Given the description of an element on the screen output the (x, y) to click on. 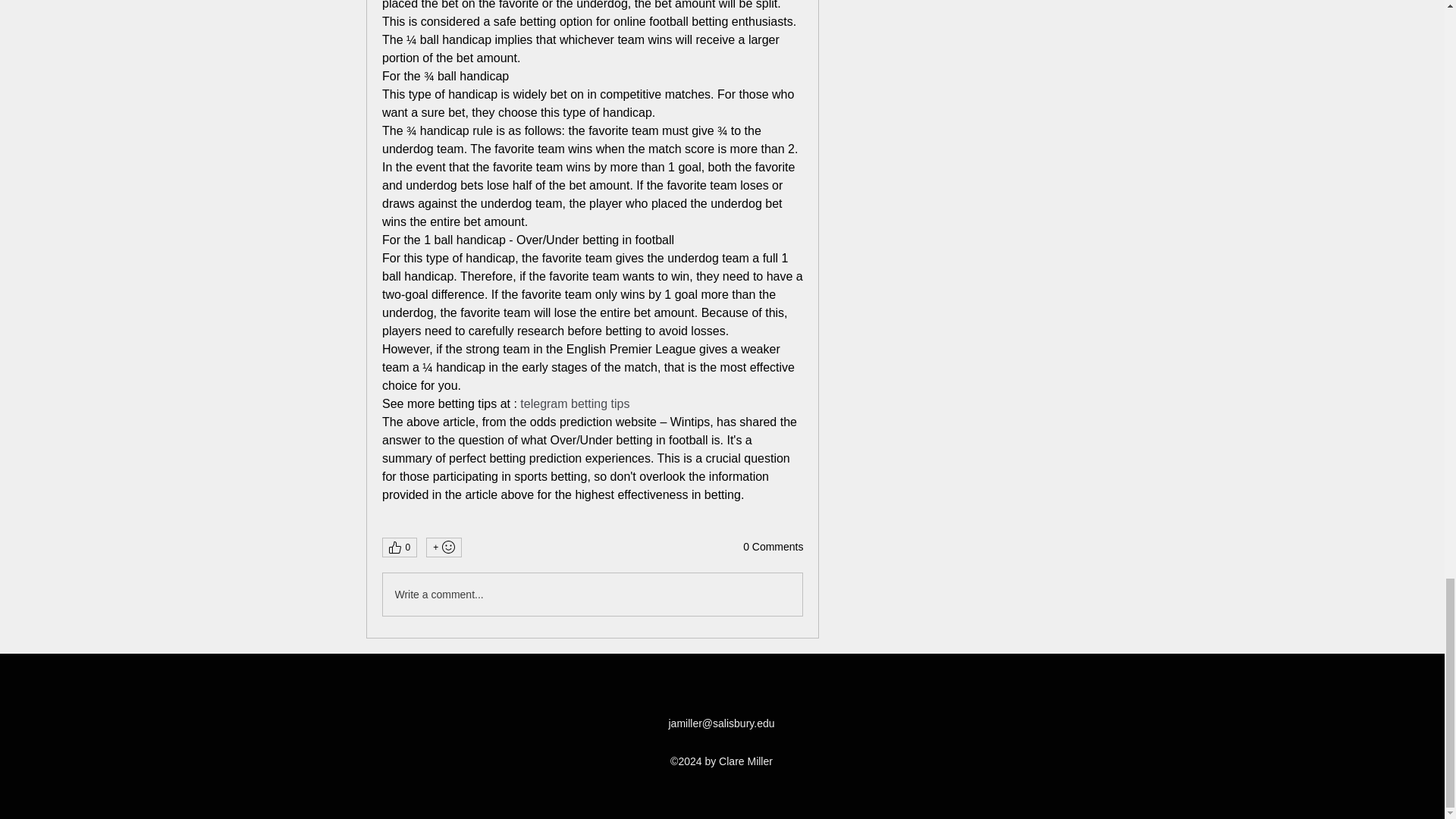
Write a comment... (591, 594)
telegram betting tips (573, 403)
0 Comments (772, 547)
